Given the description of an element on the screen output the (x, y) to click on. 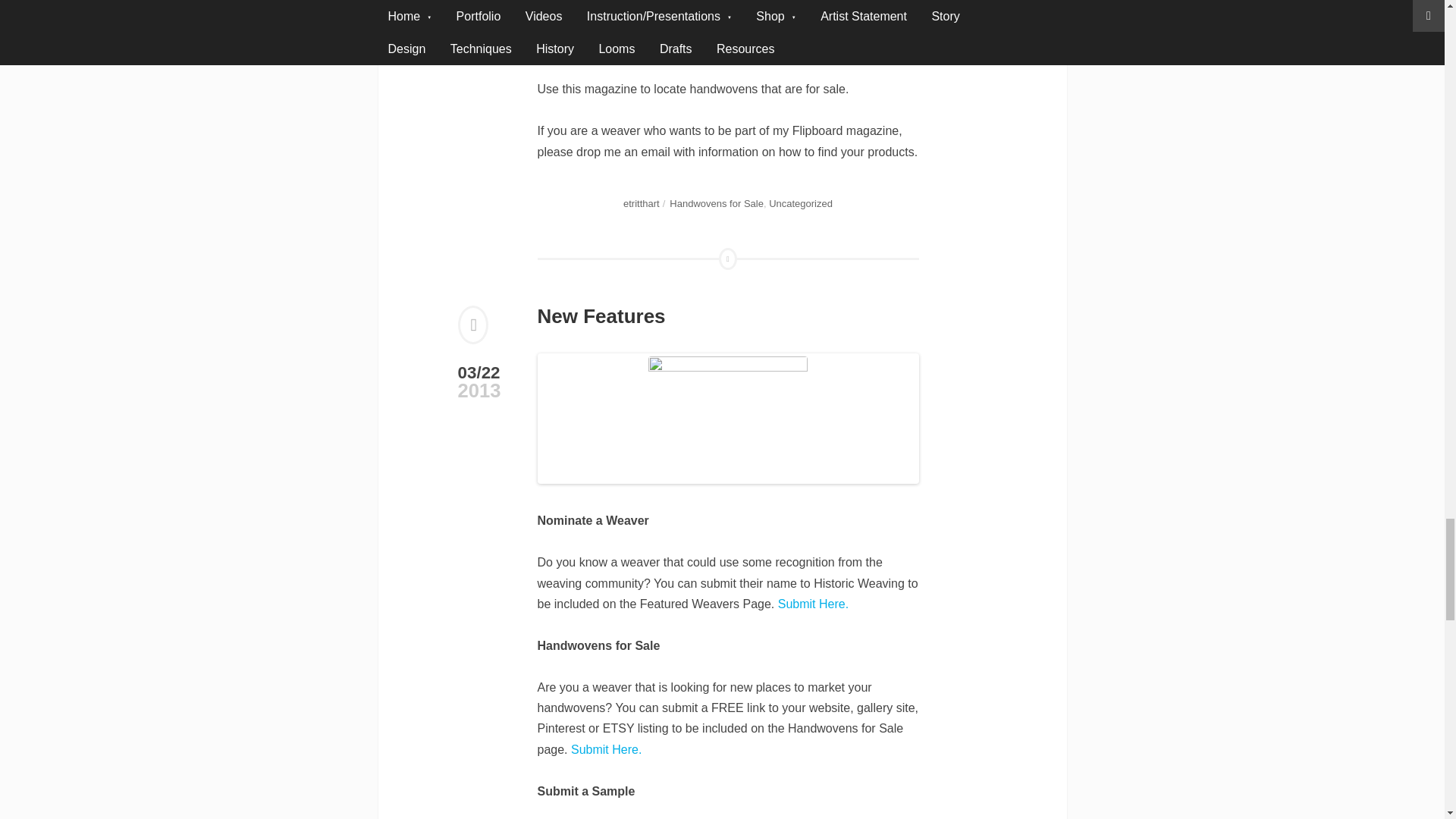
Submit A Link to Your Handwovens for Sale (606, 748)
Submit a Weaver to be Featured (812, 603)
